Given the description of an element on the screen output the (x, y) to click on. 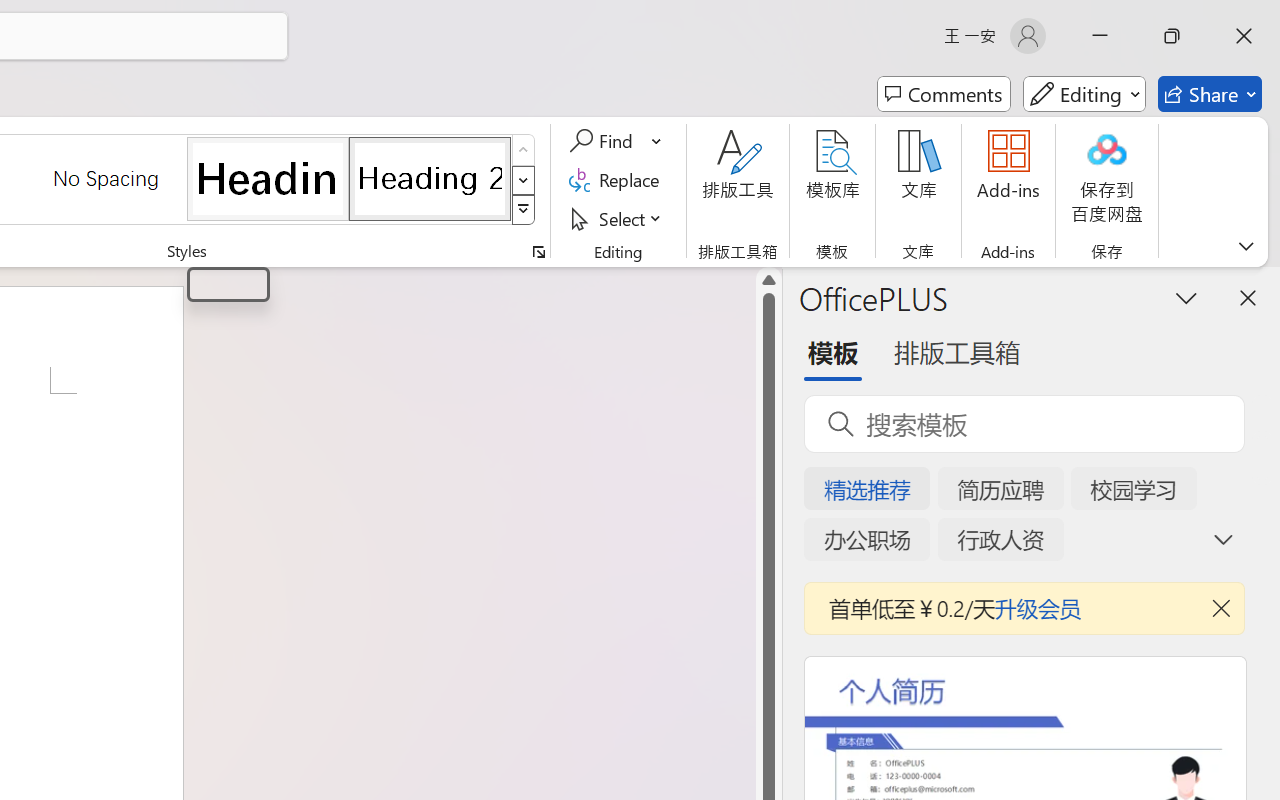
Styles (523, 209)
Share (1210, 94)
Class: NetUIImage (523, 210)
Restore Down (1172, 36)
Row up (523, 150)
Close (1244, 36)
Select (618, 218)
